Given the description of an element on the screen output the (x, y) to click on. 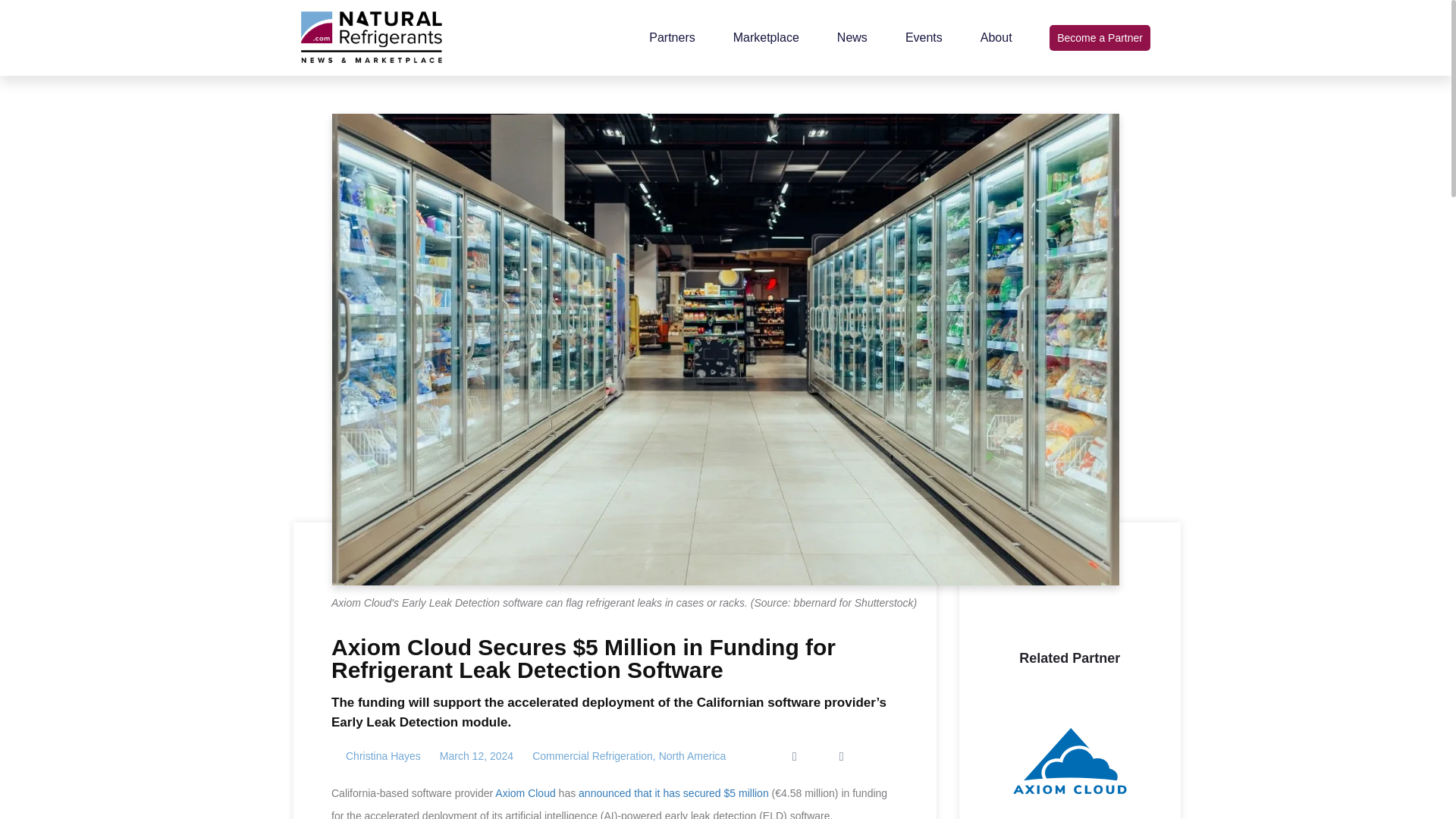
Events (923, 37)
Become a Partner (1099, 37)
Partners (671, 37)
March 12, 2024 (476, 756)
Axiom Cloud (524, 793)
Commercial Refrigeration (592, 756)
Marketplace (766, 37)
North America (692, 756)
About (995, 37)
Christina Hayes (375, 756)
